Given the description of an element on the screen output the (x, y) to click on. 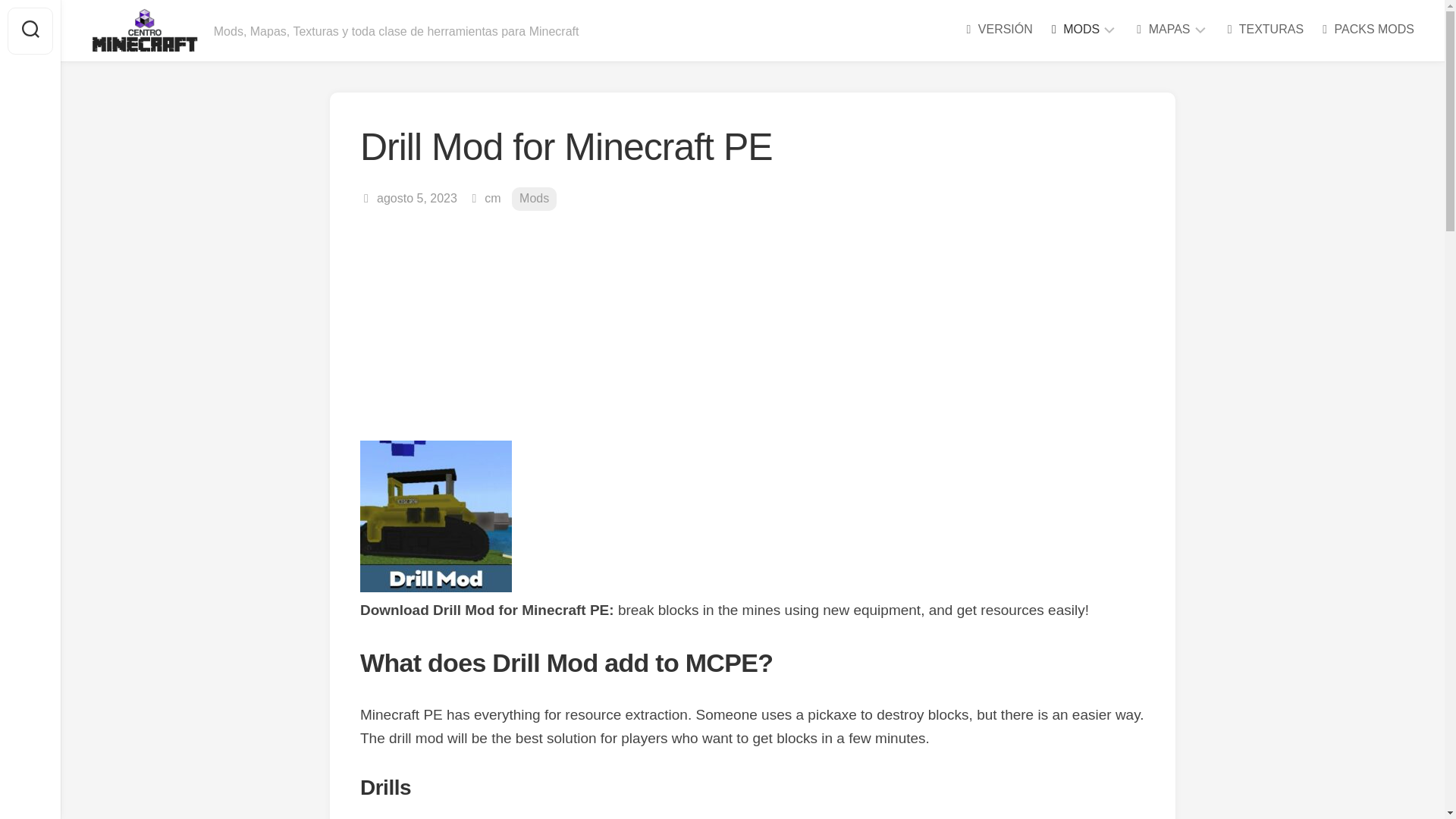
 MODS (1073, 29)
TEXTURAS (1264, 29)
PACKS MODS (1366, 29)
Entradas de cm (492, 197)
MAPAS (1160, 29)
